Given the description of an element on the screen output the (x, y) to click on. 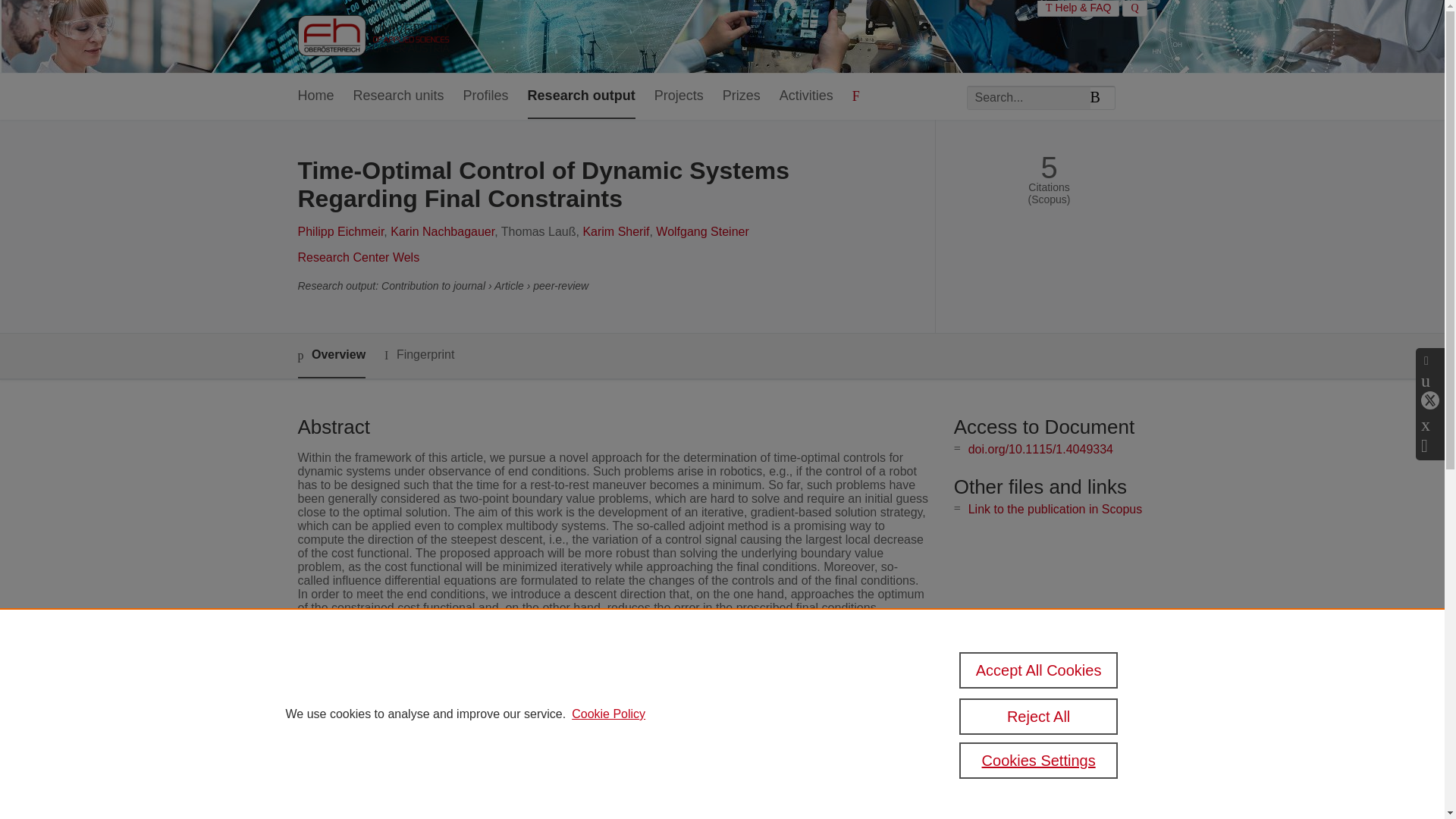
Link to the publication in Scopus (1054, 508)
University of Applied Sciences Upper Austria Home (372, 36)
Wolfgang Steiner (702, 231)
Karim Sherif (615, 231)
Research Center Wels (358, 256)
Philipp Eichmeir (340, 231)
Fingerprint (419, 354)
Profiles (485, 96)
Research output (580, 96)
Projects (678, 96)
